Given the description of an element on the screen output the (x, y) to click on. 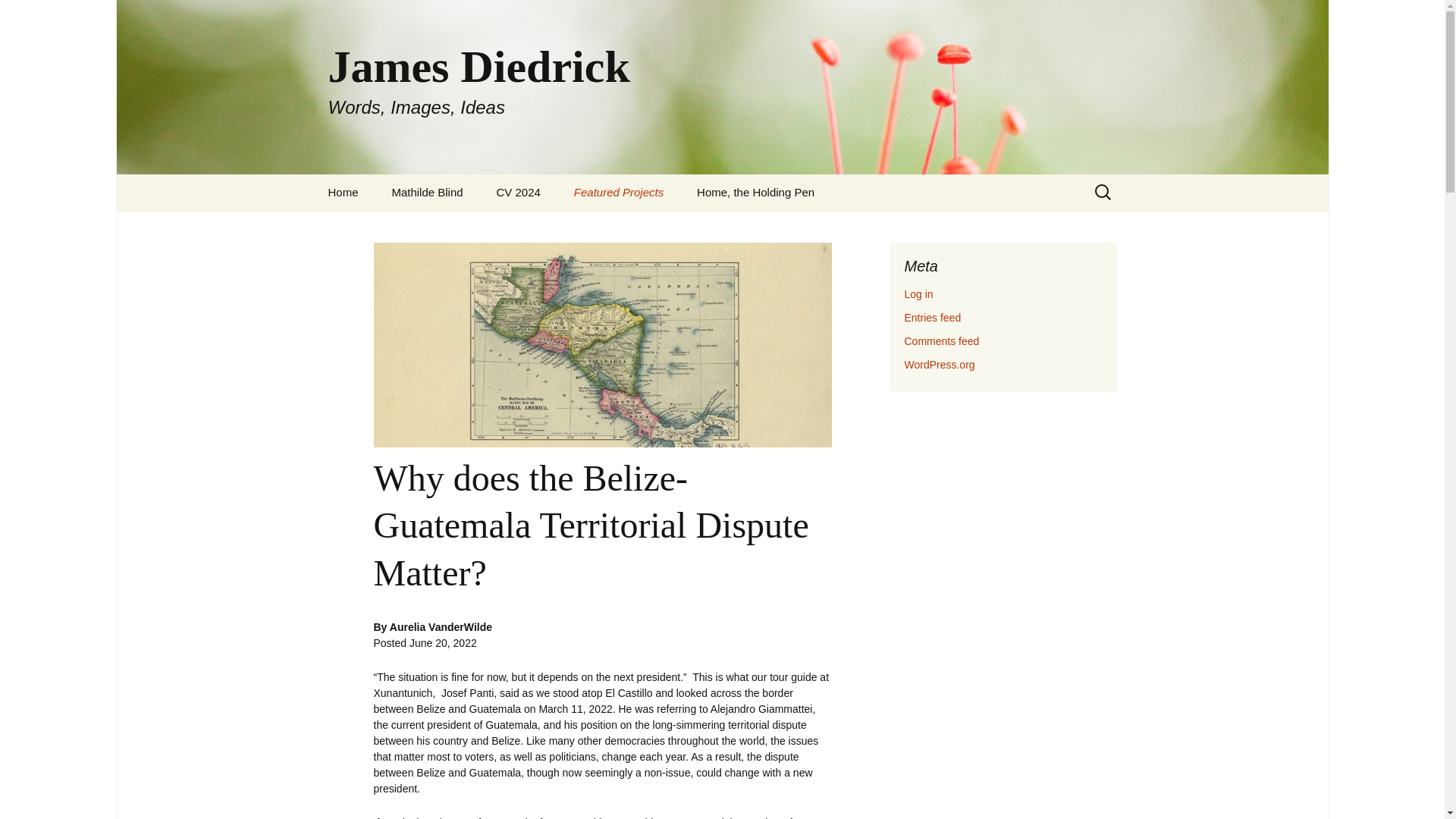
Home, the Holding Pen (755, 192)
Search (18, 15)
Mathilde Blind (426, 192)
Featured Projects (618, 192)
CV 2024 (342, 192)
